Given the description of an element on the screen output the (x, y) to click on. 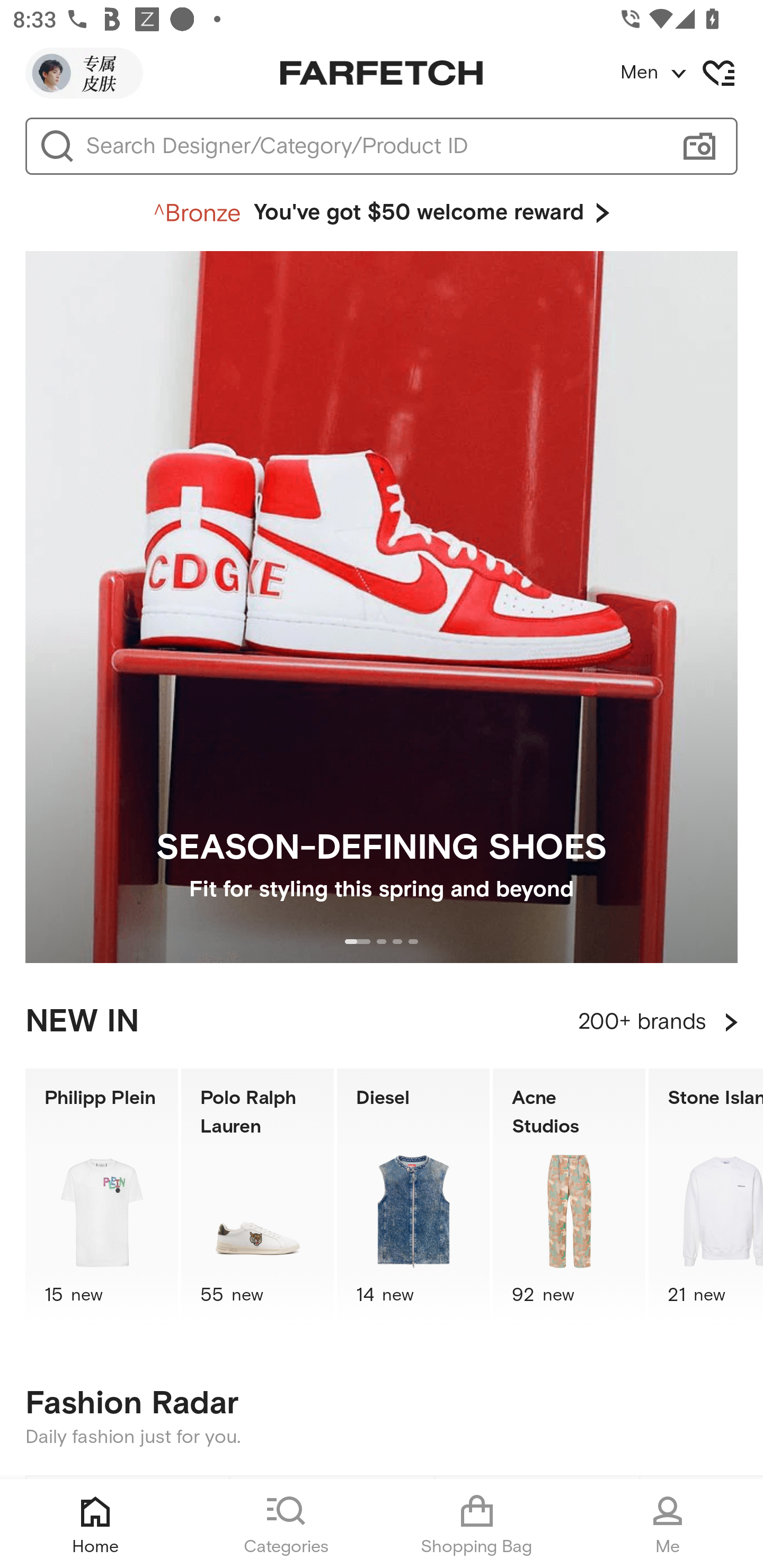
Men (691, 72)
Search Designer/Category/Product ID (373, 146)
You've got $50 welcome reward (381, 213)
NEW IN 200+ brands (381, 1021)
Philipp Plein 15  new (101, 1196)
Polo Ralph Lauren 55  new (257, 1196)
Diesel 14  new (413, 1196)
Acne Studios 92  new (568, 1196)
Stone Island 21  new (705, 1196)
Categories (285, 1523)
Shopping Bag (476, 1523)
Me (667, 1523)
